Given the description of an element on the screen output the (x, y) to click on. 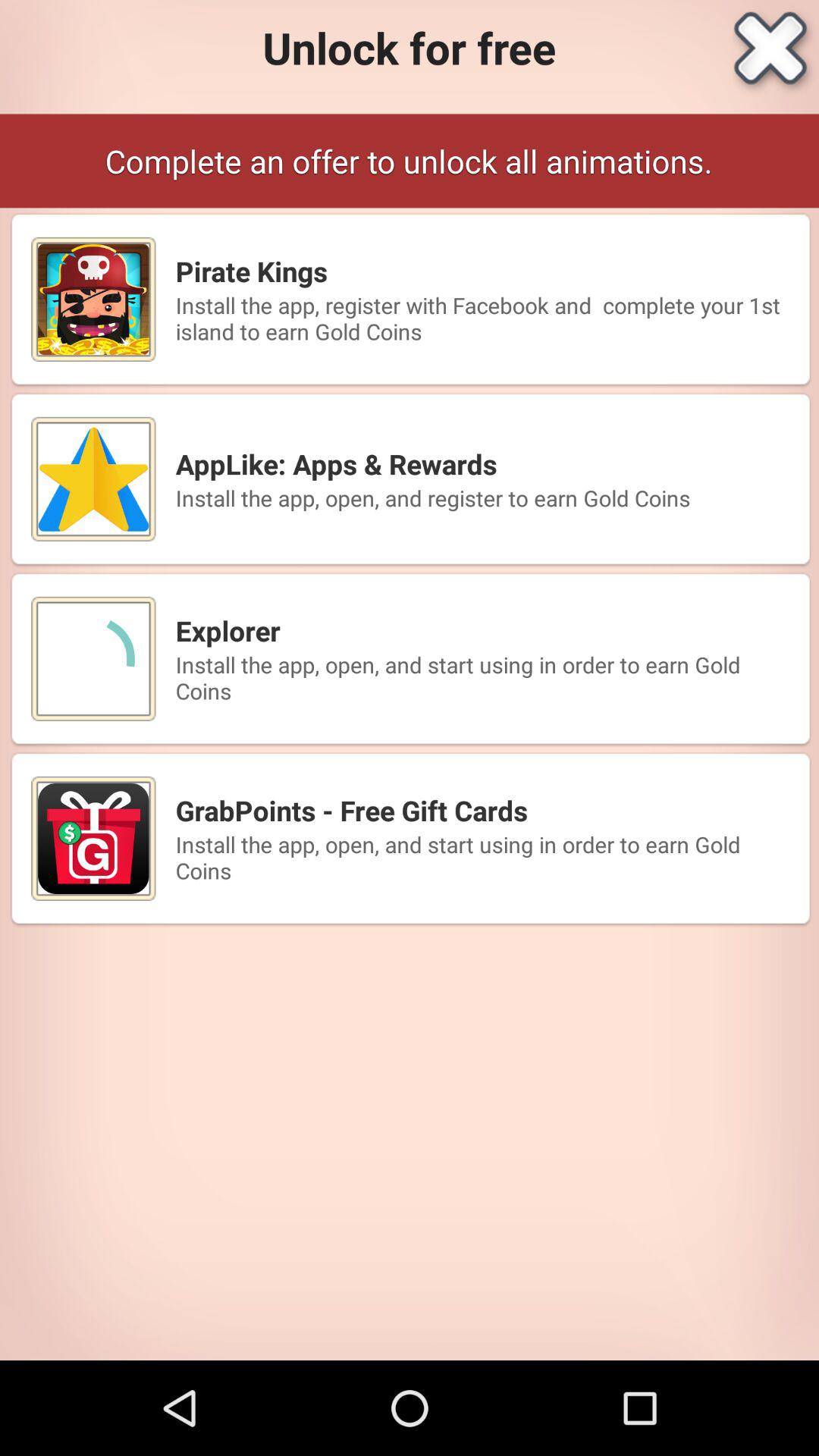
click on mini image left to pirate kings (93, 299)
click on the second image (93, 478)
